Given the description of an element on the screen output the (x, y) to click on. 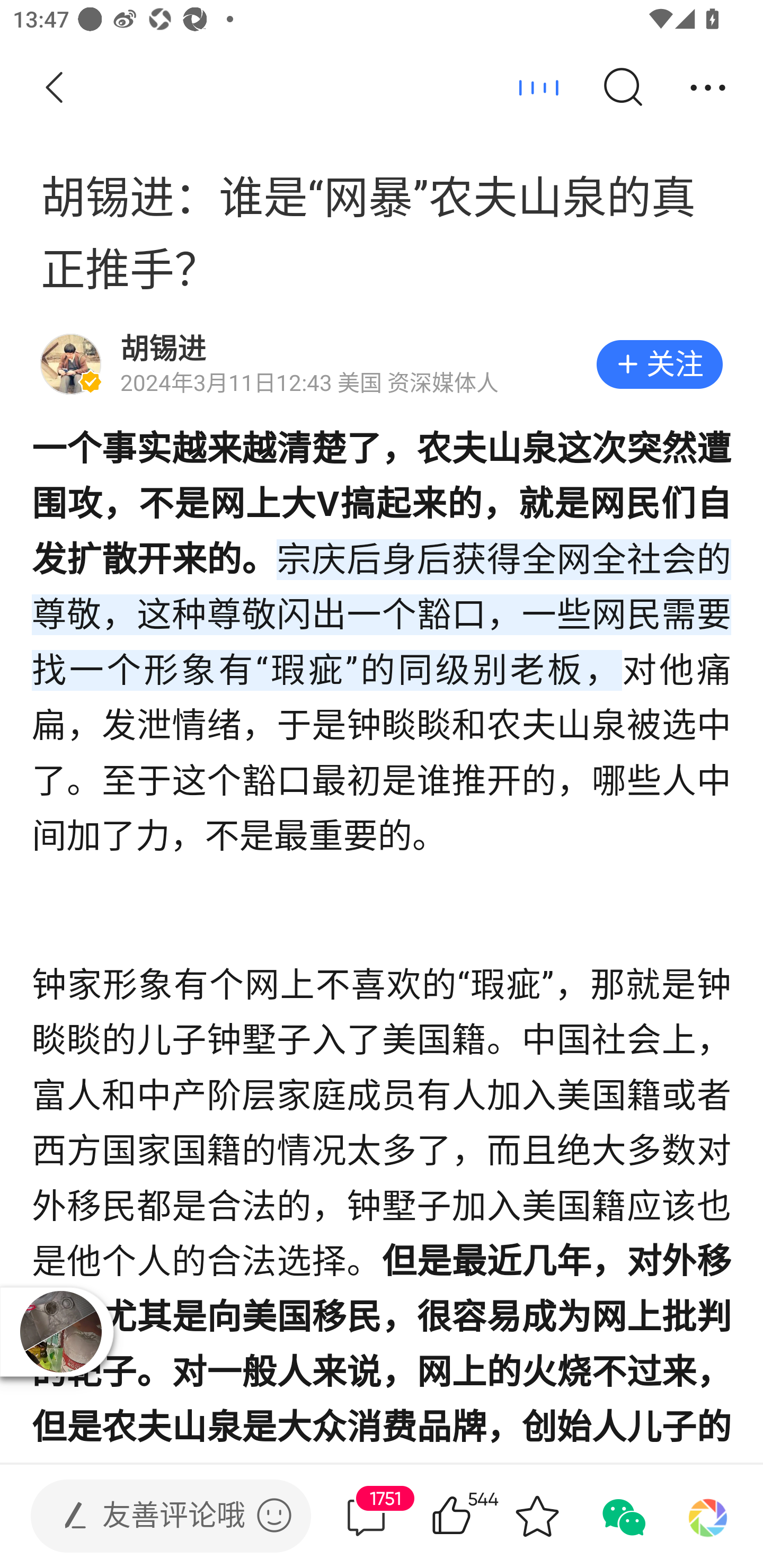
搜索  (622, 87)
分享  (707, 87)
 返回 (54, 87)
胡锡进 2024年3月11日12:43 美国 资深媒体人  关注 (381, 364)
 关注 (659, 364)
播放器 (60, 1331)
发表评论  友善评论哦 发表评论  (155, 1516)
1751评论  1751 评论 (365, 1516)
544赞 (476, 1516)
收藏  (536, 1516)
分享到微信  (622, 1516)
分享到朋友圈 (707, 1516)
 (274, 1515)
